Given the description of an element on the screen output the (x, y) to click on. 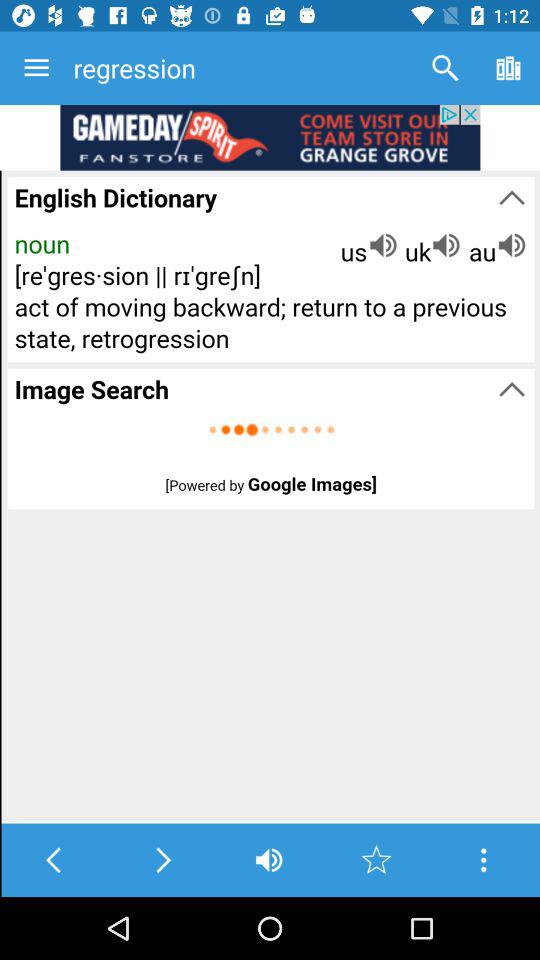
visit advertiser website (270, 137)
